Given the description of an element on the screen output the (x, y) to click on. 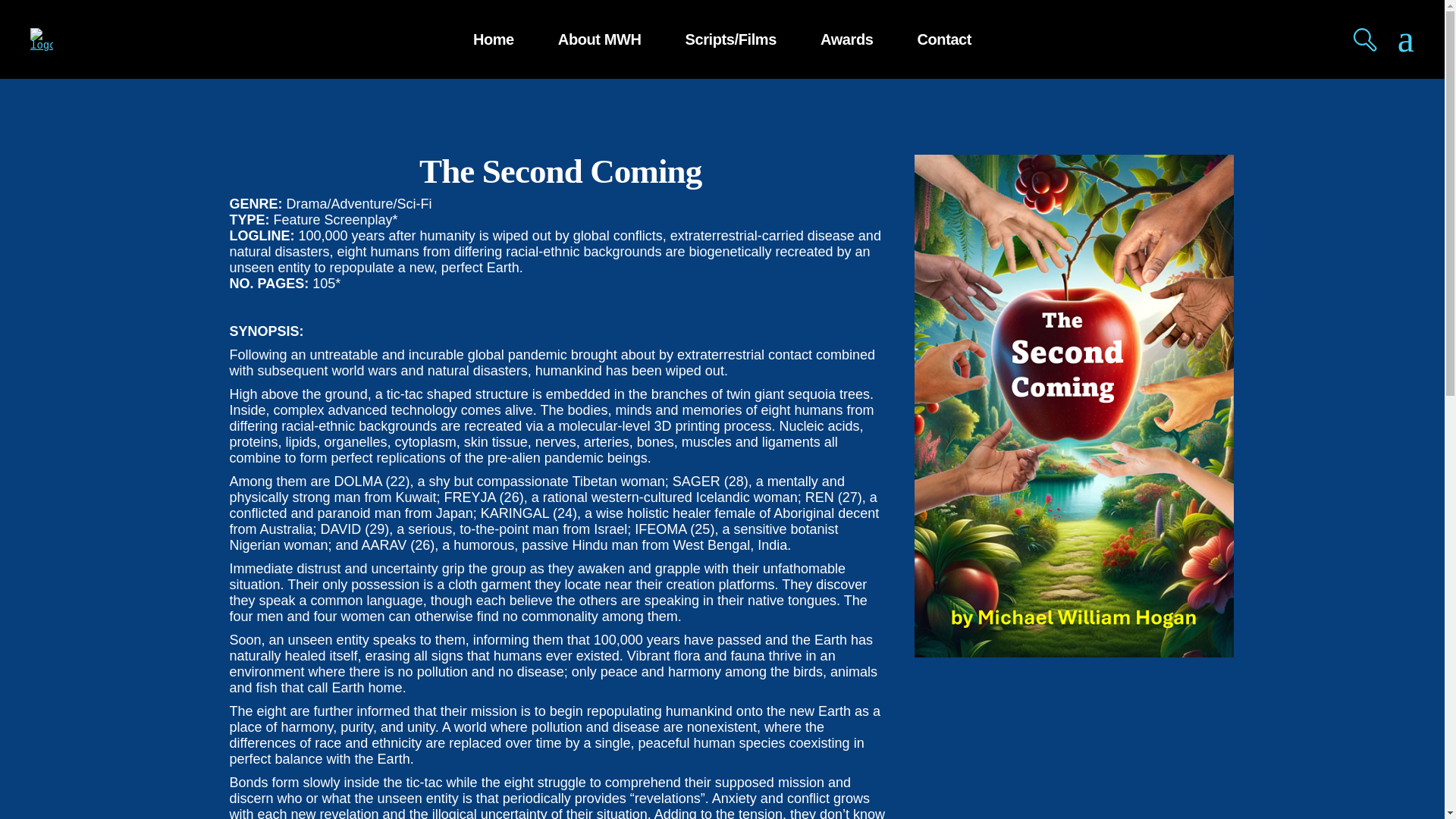
Awards (846, 39)
Contact (943, 39)
About MWH (599, 39)
Home (493, 39)
